Given the description of an element on the screen output the (x, y) to click on. 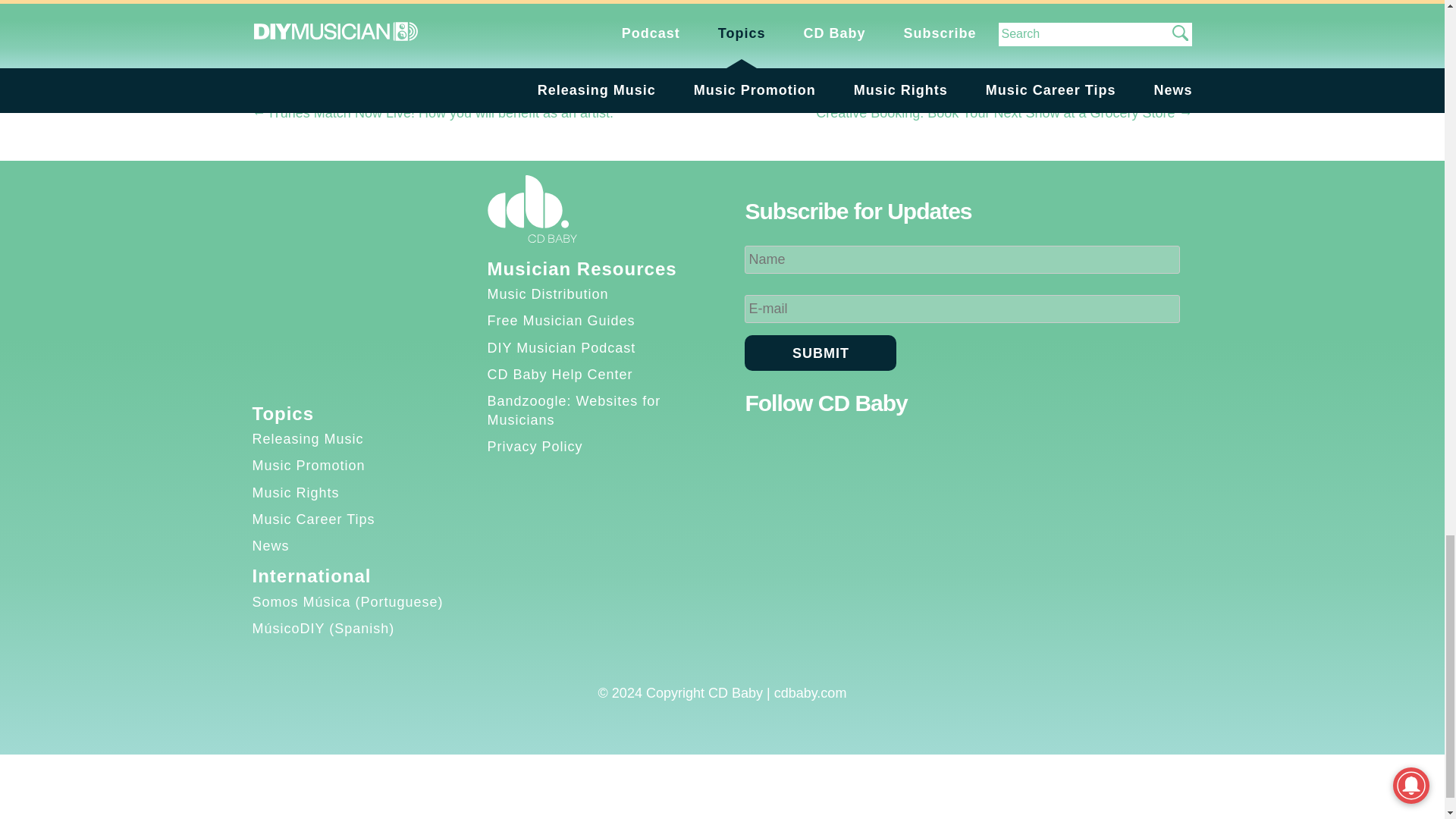
Music Rights (295, 492)
News (269, 545)
Music Career Tips (312, 519)
Submit (820, 352)
Releasing Music (306, 438)
Music Promotion (308, 465)
News and Announcements (376, 55)
